Given the description of an element on the screen output the (x, y) to click on. 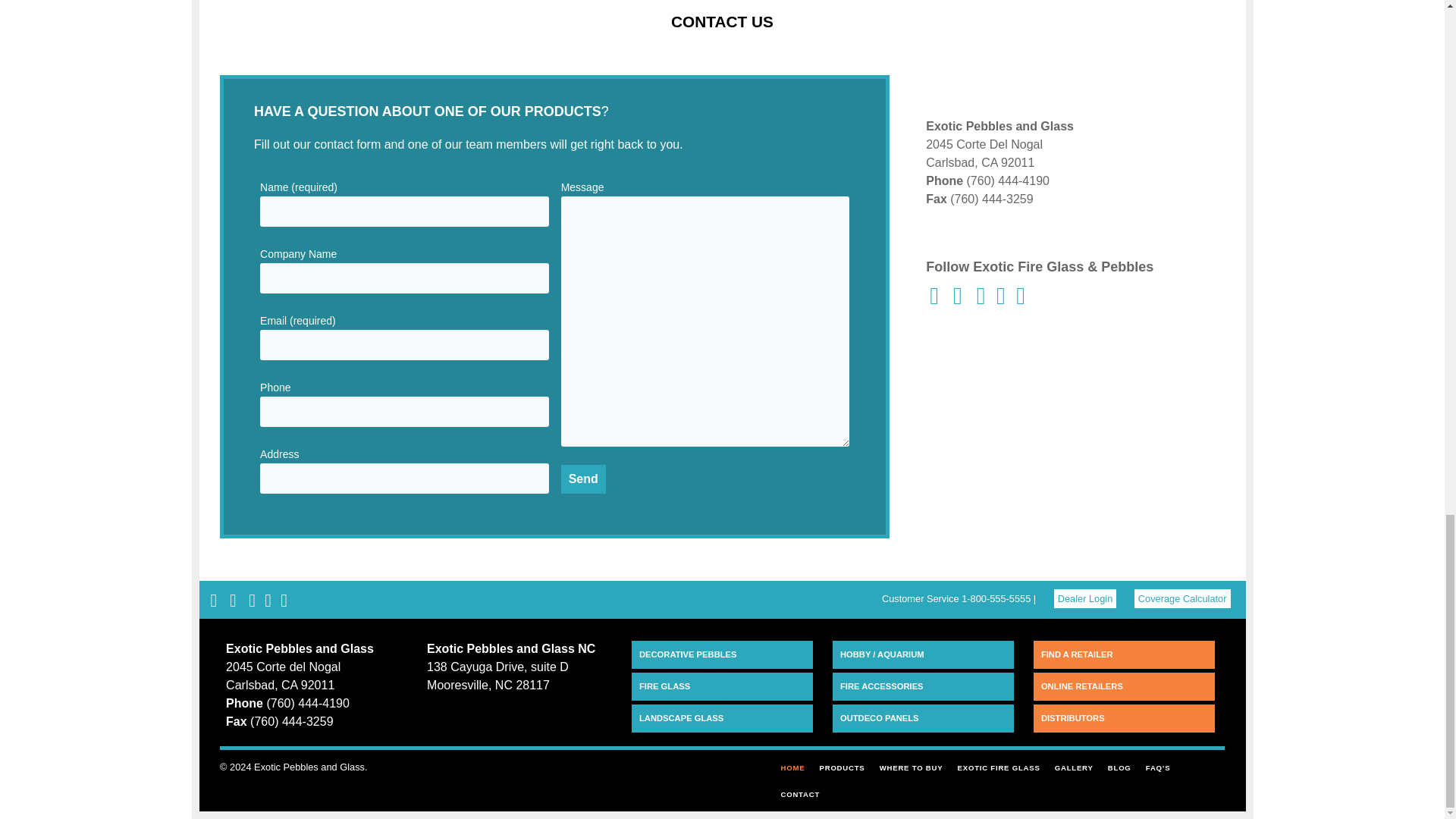
Send (582, 479)
Products (842, 767)
Home (792, 767)
Send (582, 479)
